Given the description of an element on the screen output the (x, y) to click on. 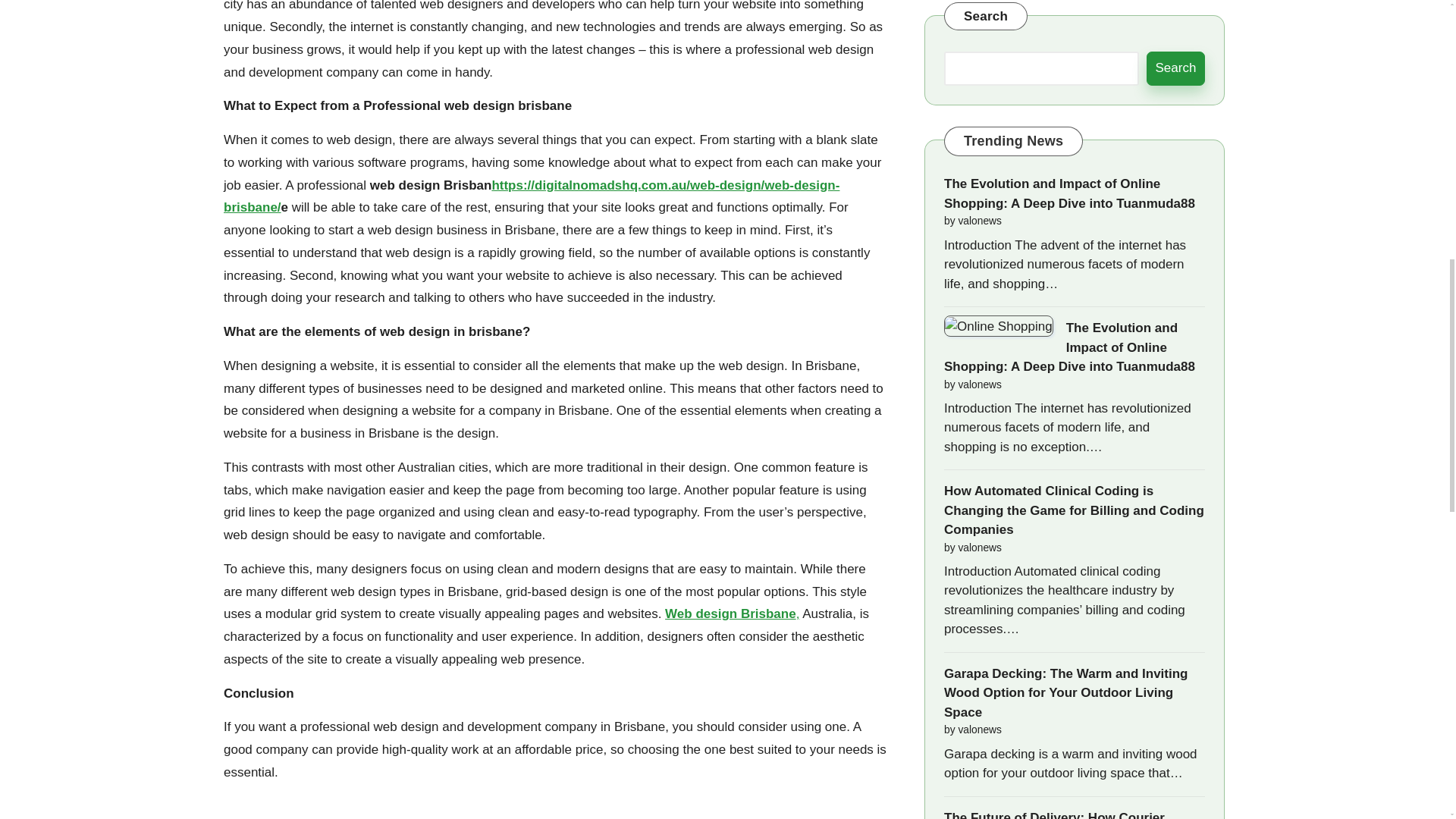
Web design Brisbane, (732, 613)
